Given the description of an element on the screen output the (x, y) to click on. 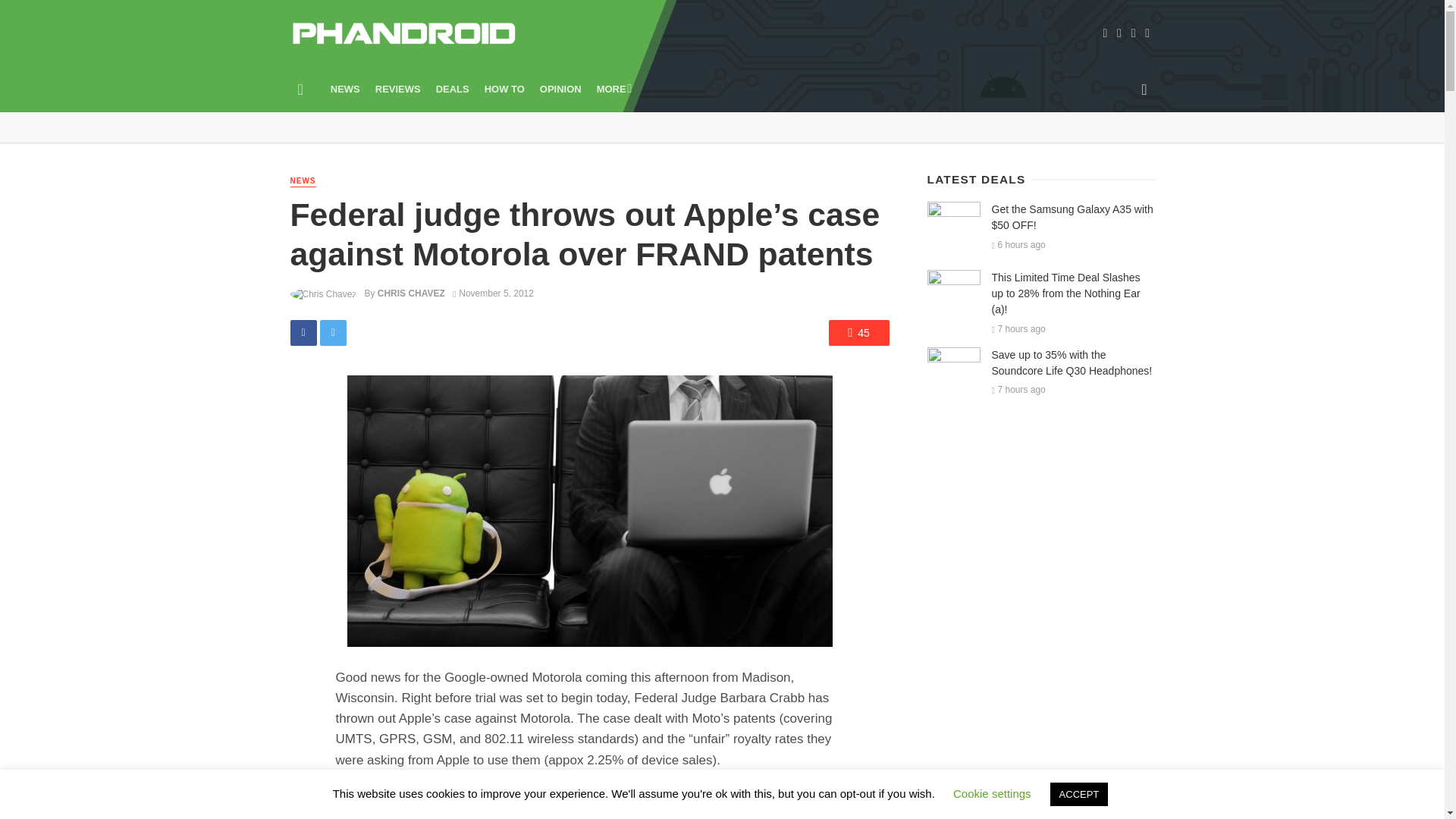
NEWS (345, 89)
Android vs Apple (589, 511)
MORE (612, 89)
CHRIS CHAVEZ (411, 293)
45 (858, 332)
NEWS (302, 181)
OPINION (560, 89)
DEALS (452, 89)
HOW TO (504, 89)
November 5, 2012 at 5:43 pm (493, 293)
